Given the description of an element on the screen output the (x, y) to click on. 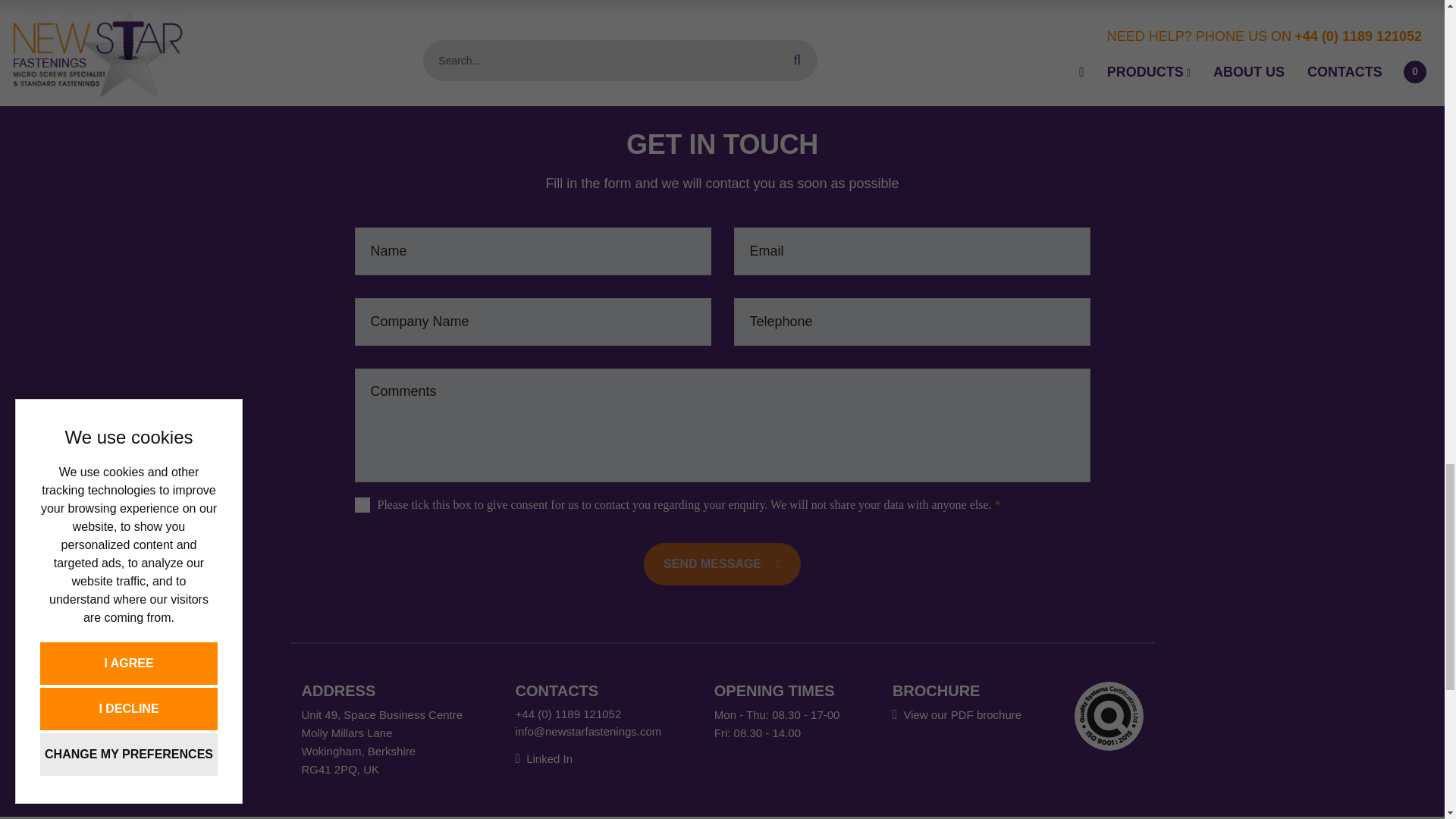
View our PDF brochure (957, 714)
SEND MESSAGE (721, 563)
Linked In (543, 758)
